Given the description of an element on the screen output the (x, y) to click on. 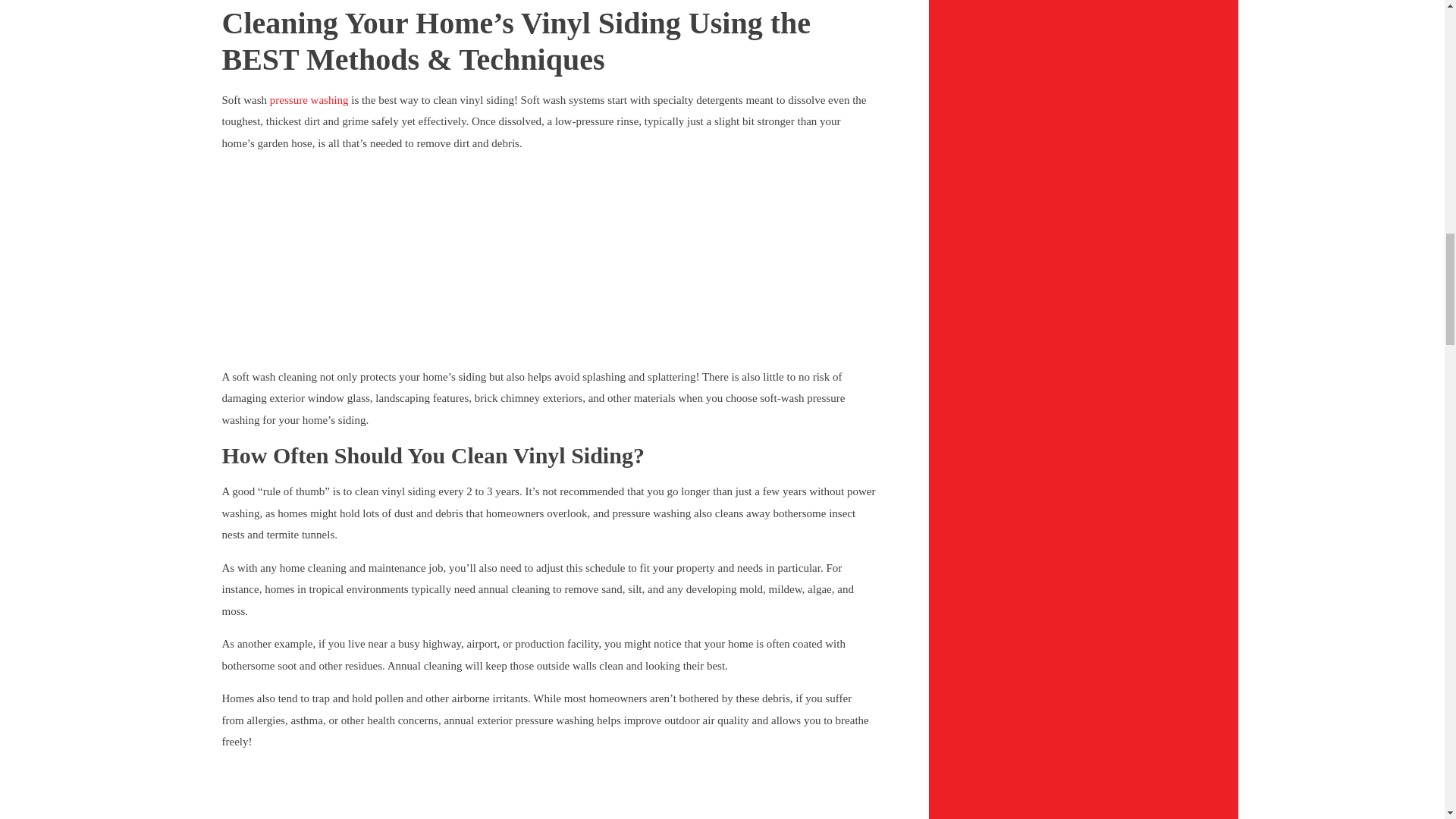
pressure washing (309, 100)
